Given the description of an element on the screen output the (x, y) to click on. 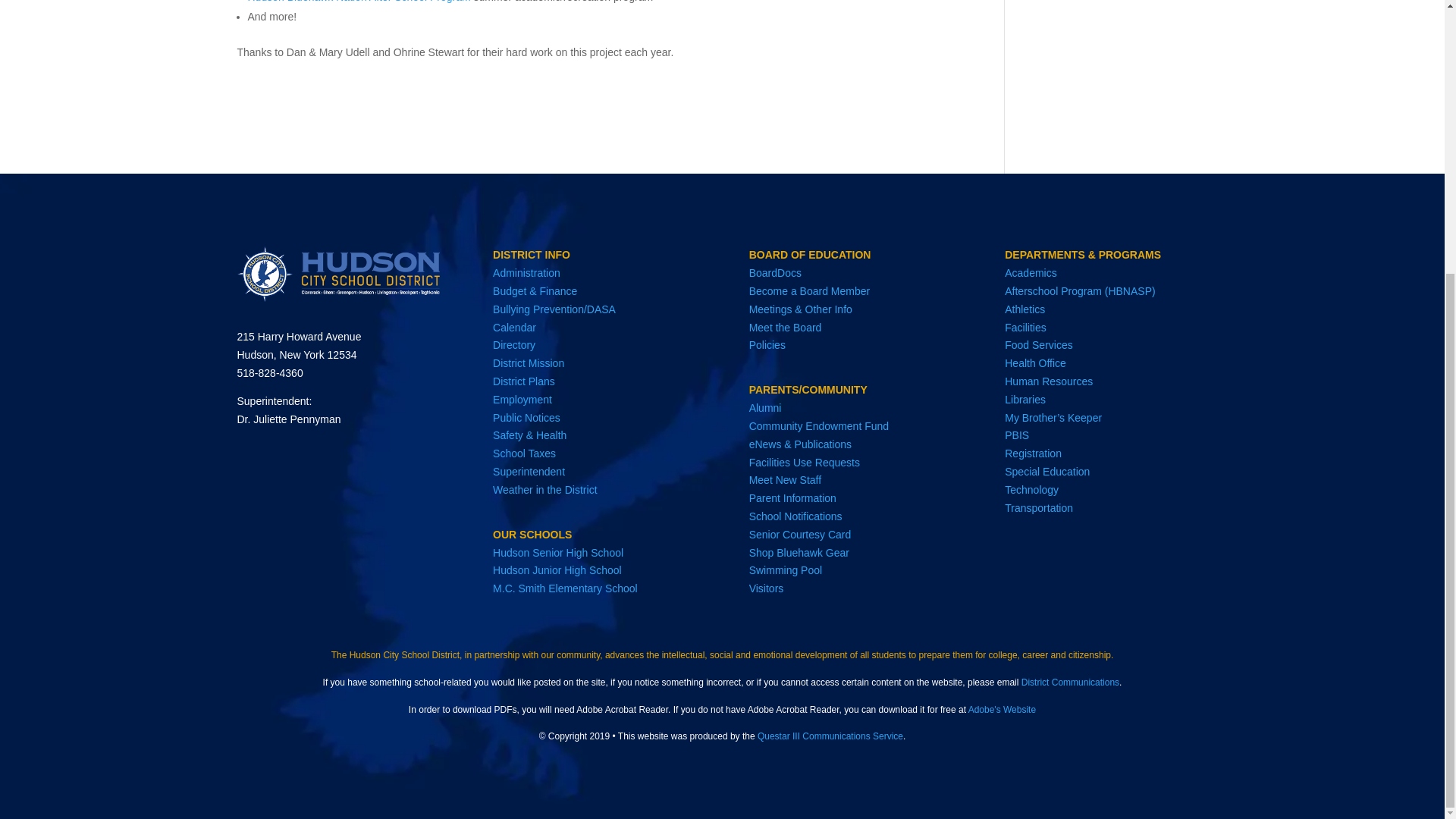
HU Banner2024 adjusted (337, 273)
